Given the description of an element on the screen output the (x, y) to click on. 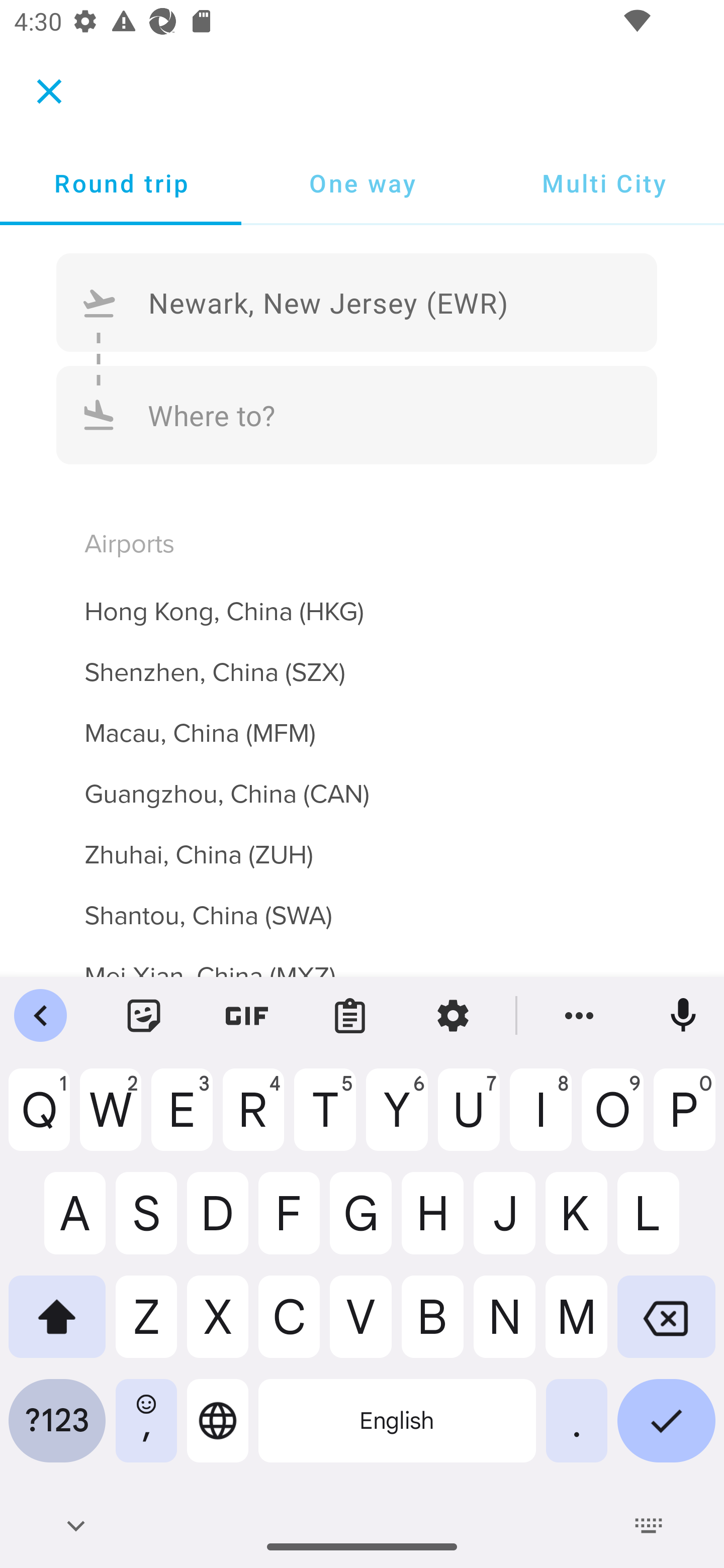
Cancel (49, 90)
One way (361, 183)
Multi City (603, 183)
Newark, New Jersey (EWR) (356, 302)
Where to? (356, 414)
Hong Kong, China (HKG) (361, 599)
Shenzhen, China (SZX) (361, 660)
Macau, China (MFM) (361, 721)
Guangzhou, China (CAN) (361, 782)
Zhuhai, China (ZUH) (361, 843)
Shantou, China (SWA) (361, 903)
